Given the description of an element on the screen output the (x, y) to click on. 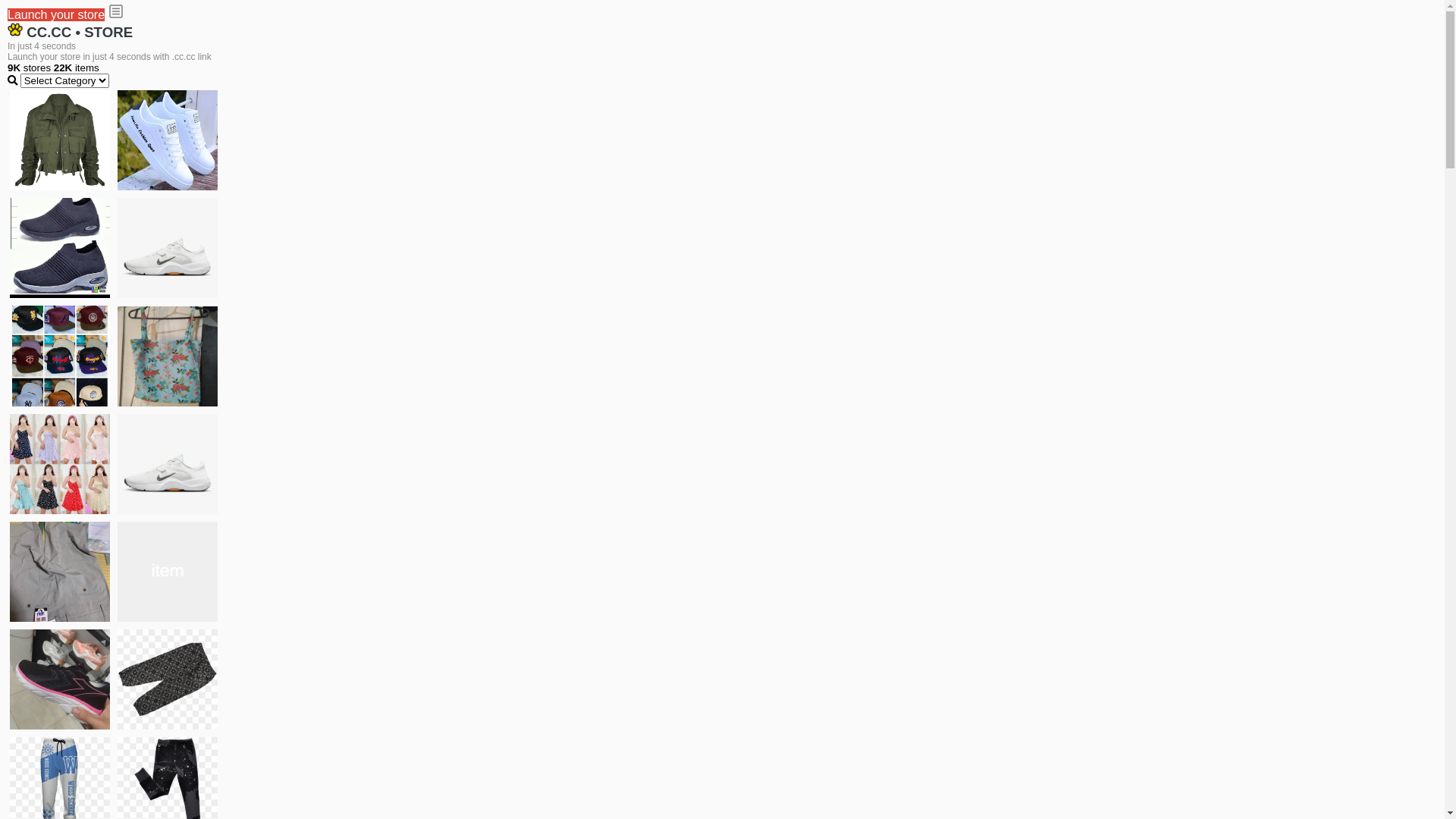
Short pant Element type: hover (167, 679)
white shoes Element type: hover (167, 140)
Shoes for boys Element type: hover (167, 247)
Things we need Element type: hover (59, 355)
Dress/square nect top Element type: hover (59, 464)
jacket Element type: hover (59, 140)
Launch your store Element type: text (55, 14)
Ukay cloth Element type: hover (167, 356)
Zapatillas pumas Element type: hover (167, 571)
Shoes Element type: hover (167, 464)
shoes for boys Element type: hover (59, 247)
Zapatillas Element type: hover (59, 679)
